Given the description of an element on the screen output the (x, y) to click on. 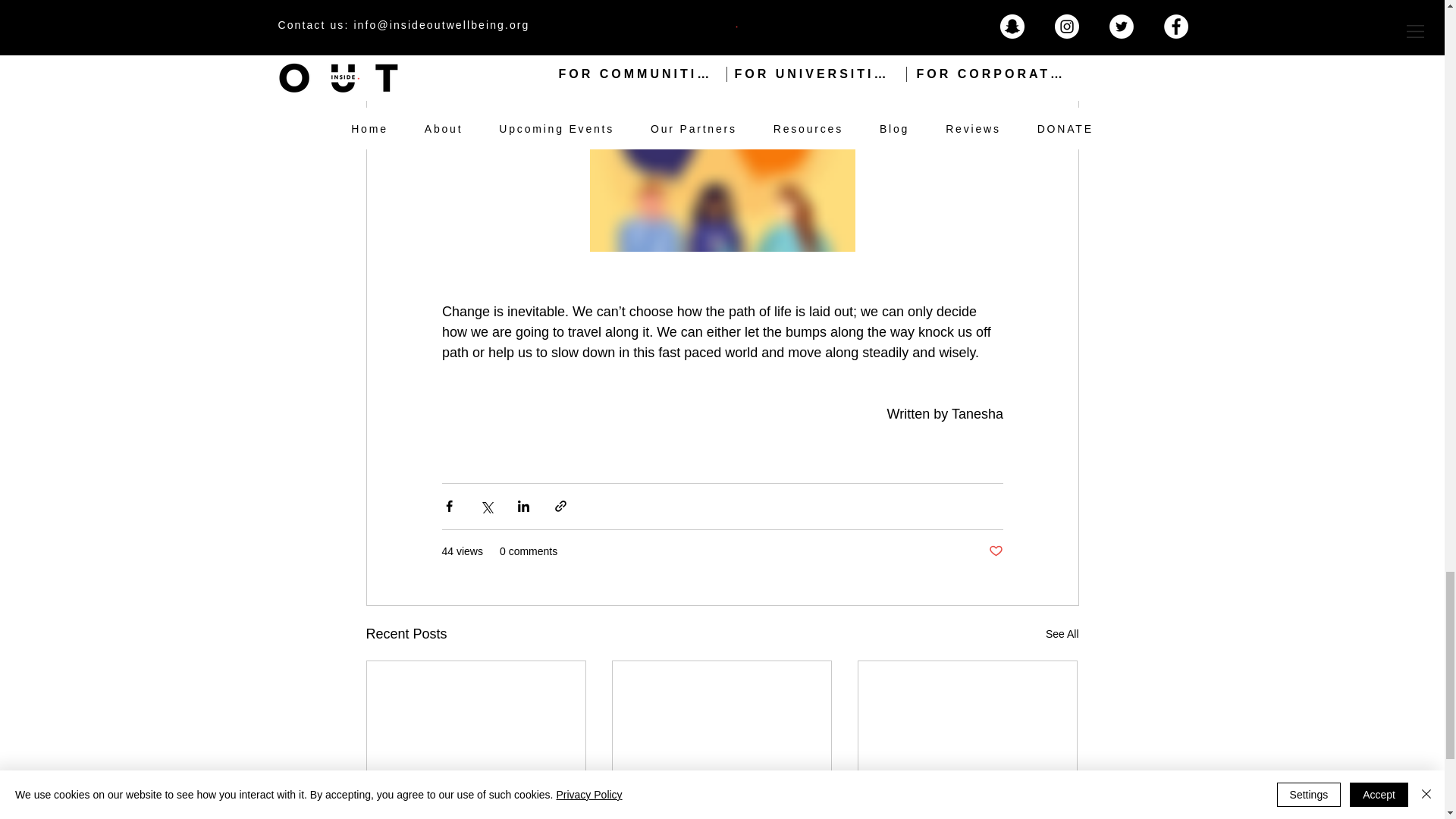
Reflecting on the Inside Out Well-being Awards 2022 (721, 810)
Post not marked as liked (995, 551)
See All (1061, 634)
